Given the description of an element on the screen output the (x, y) to click on. 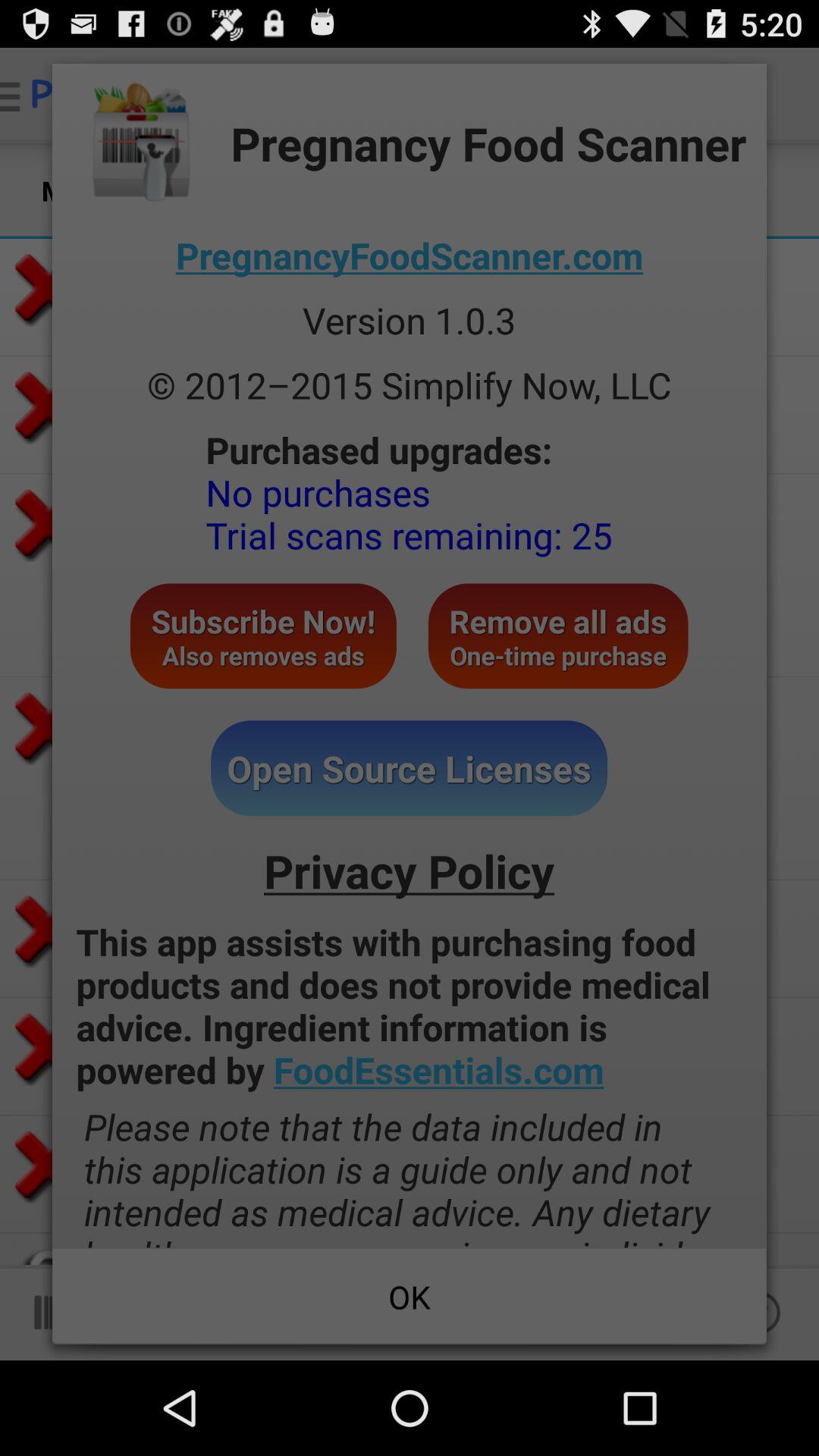
turn off the icon above the privacy policy icon (409, 768)
